Given the description of an element on the screen output the (x, y) to click on. 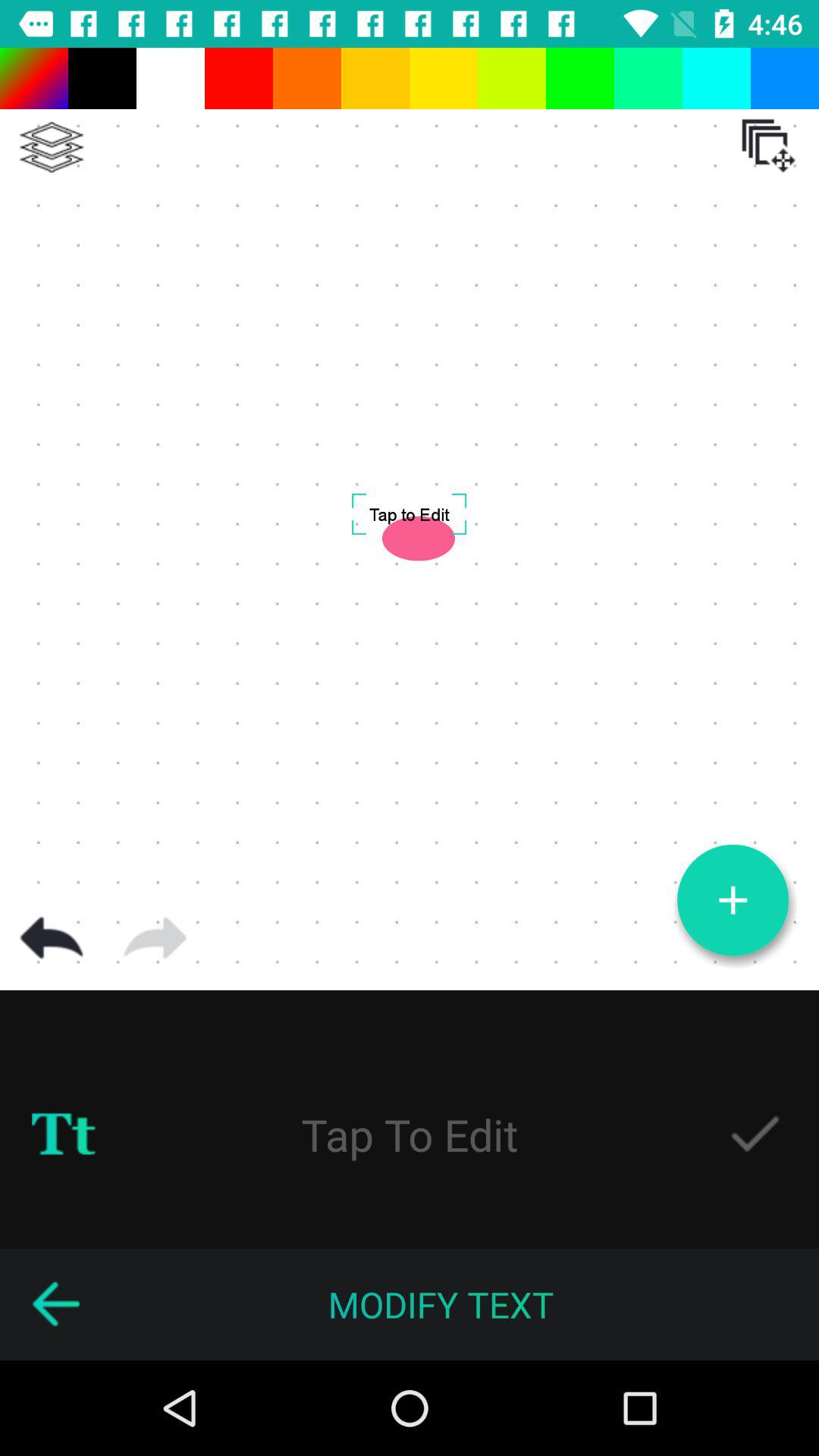
undo last action (51, 938)
